Given the description of an element on the screen output the (x, y) to click on. 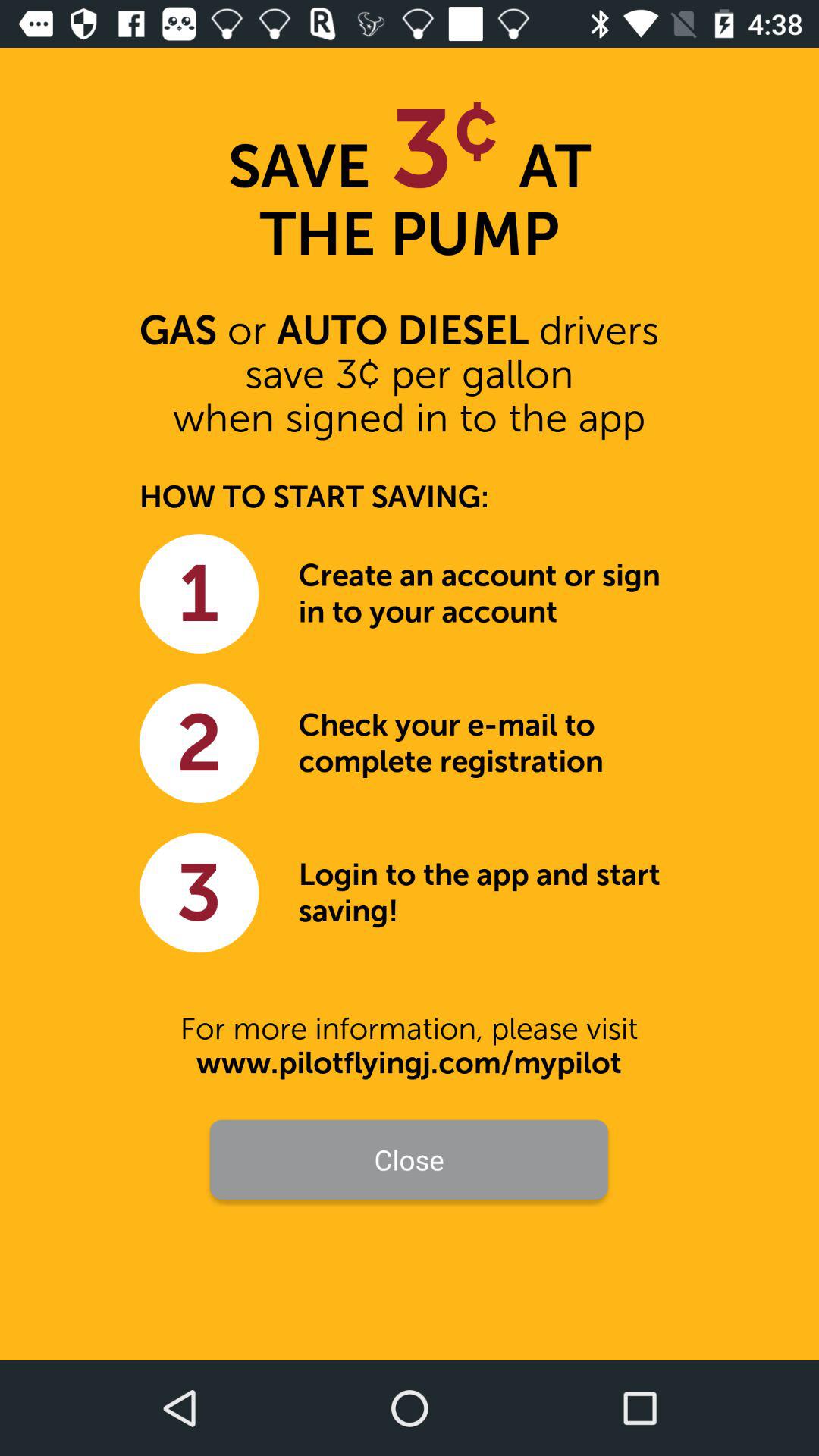
scroll until find a store (409, 1230)
